Given the description of an element on the screen output the (x, y) to click on. 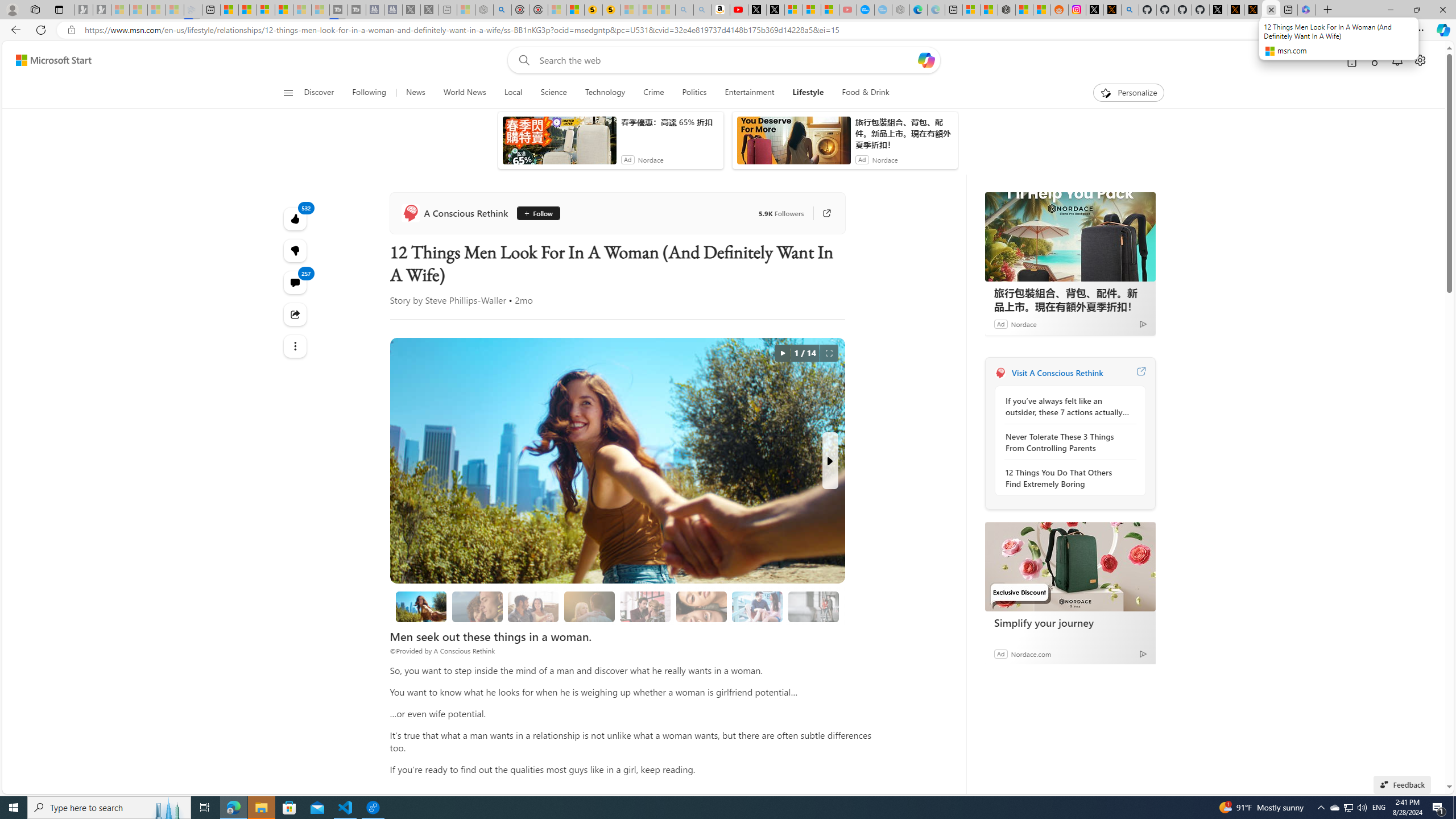
Local (513, 92)
Entertainment (749, 92)
amazon - Search - Sleeping (684, 9)
2. She is accepting. (533, 606)
3. She is appreciative. (589, 606)
Visit A Conscious Rethink website (1140, 372)
A Conscious Rethink (1000, 372)
Local (512, 92)
Newsletter Sign Up - Sleeping (102, 9)
